Given the description of an element on the screen output the (x, y) to click on. 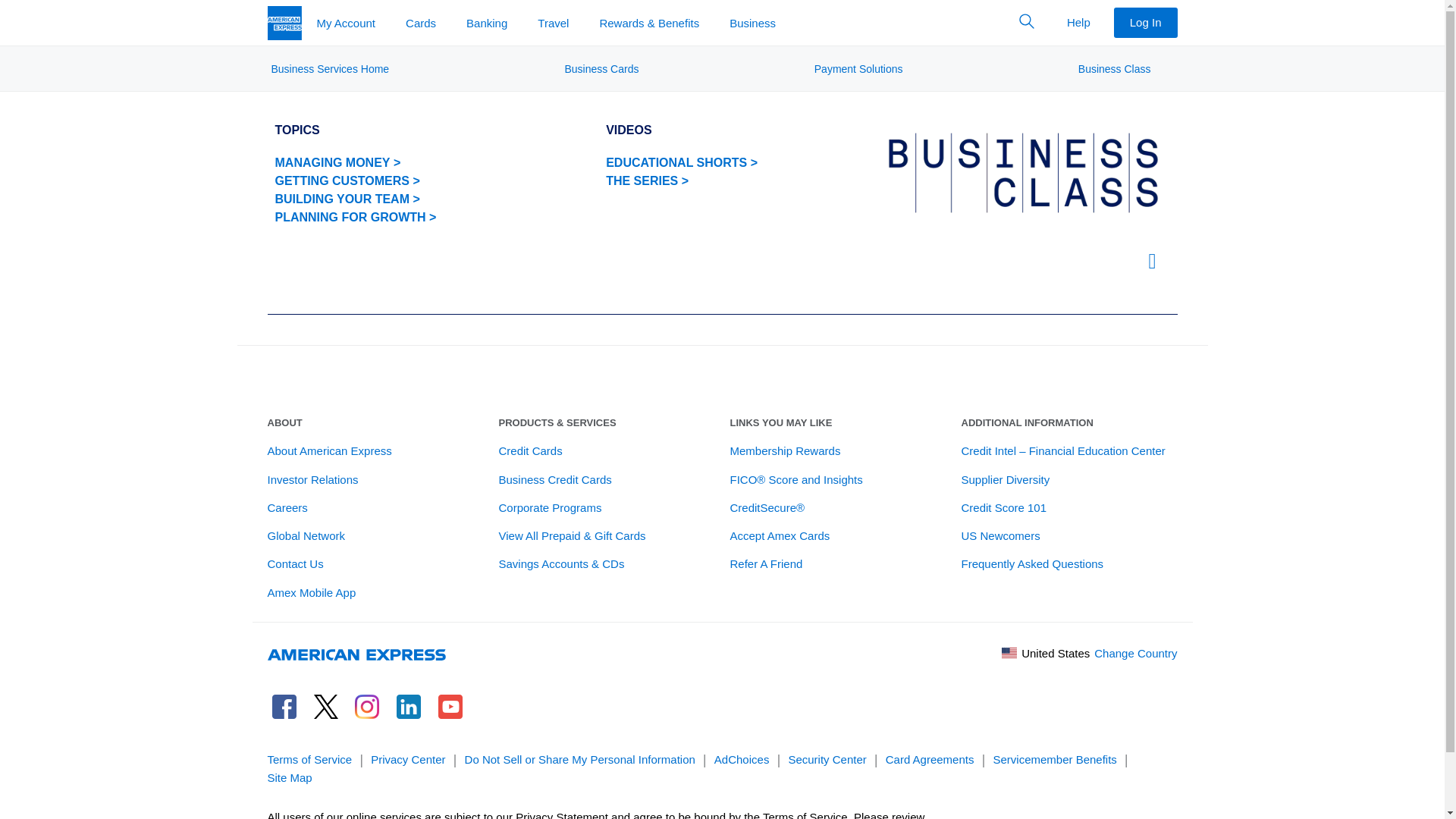
Search (1026, 21)
Planning for Growth (355, 217)
Getting Customers (355, 180)
Amex Mobile App (310, 592)
Corporate Programs (550, 507)
Business Credit Cards (555, 479)
Credit Cards (530, 450)
Homepage (283, 21)
